Given the description of an element on the screen output the (x, y) to click on. 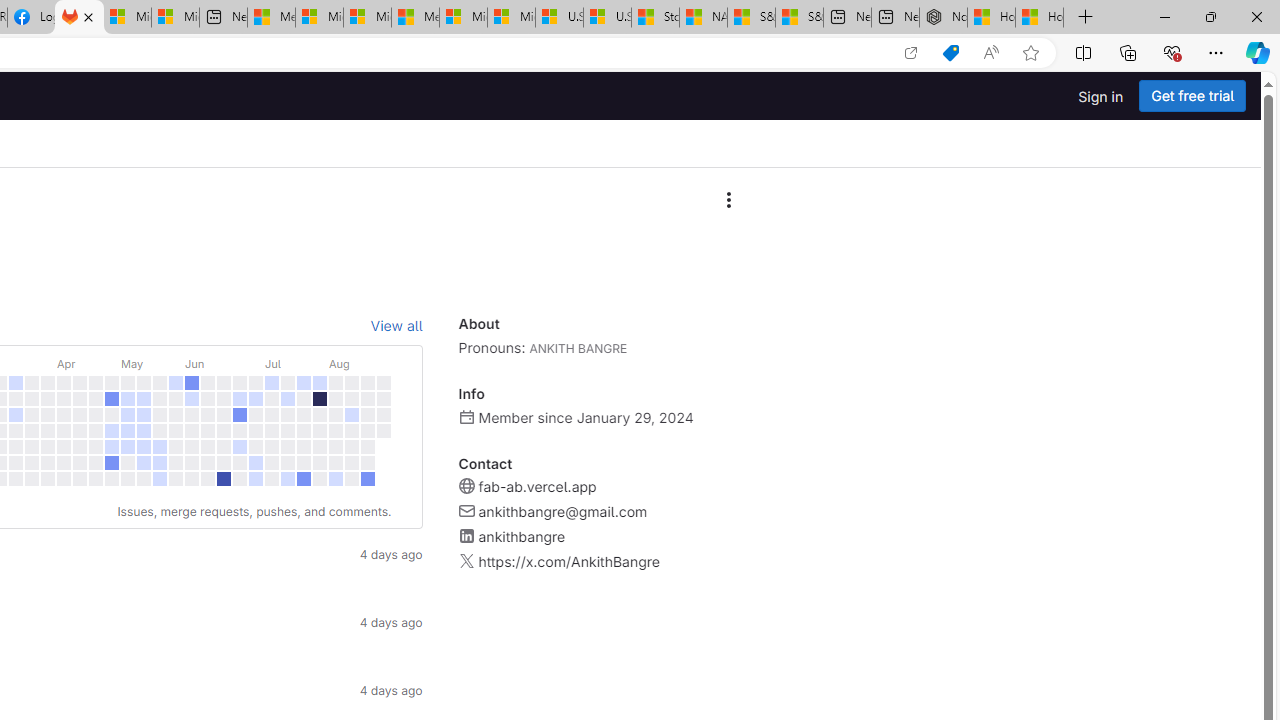
Sign in (1100, 95)
